Given the description of an element on the screen output the (x, y) to click on. 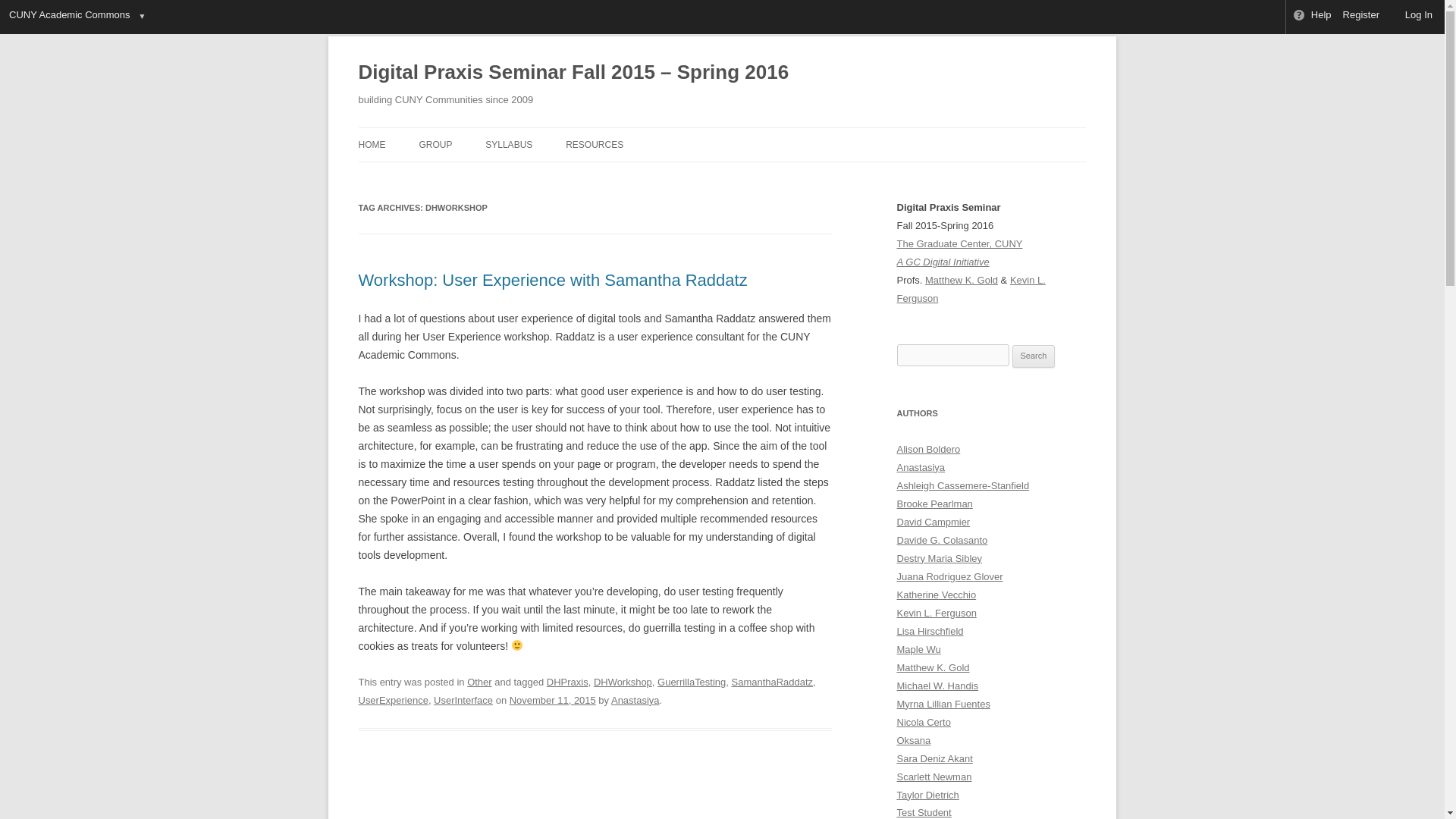
Posts by Alison Boldero (927, 449)
Register (1362, 17)
View all posts by Anastasiya (635, 699)
Anastasiya (635, 699)
CUNY Academic Commons (68, 17)
November 11, 2015 (552, 699)
Posts by Destry Maria Sibley (938, 558)
Posts by Katherine Vecchio (935, 594)
Alison Boldero (927, 449)
A GC Digital Initiative (942, 261)
Posts by Ashleigh Cassemere-Stanfield (962, 485)
DHPraxis (567, 681)
GROUP (435, 144)
DHWorkshop (623, 681)
Posts by Michael W. Handis (937, 685)
